Given the description of an element on the screen output the (x, y) to click on. 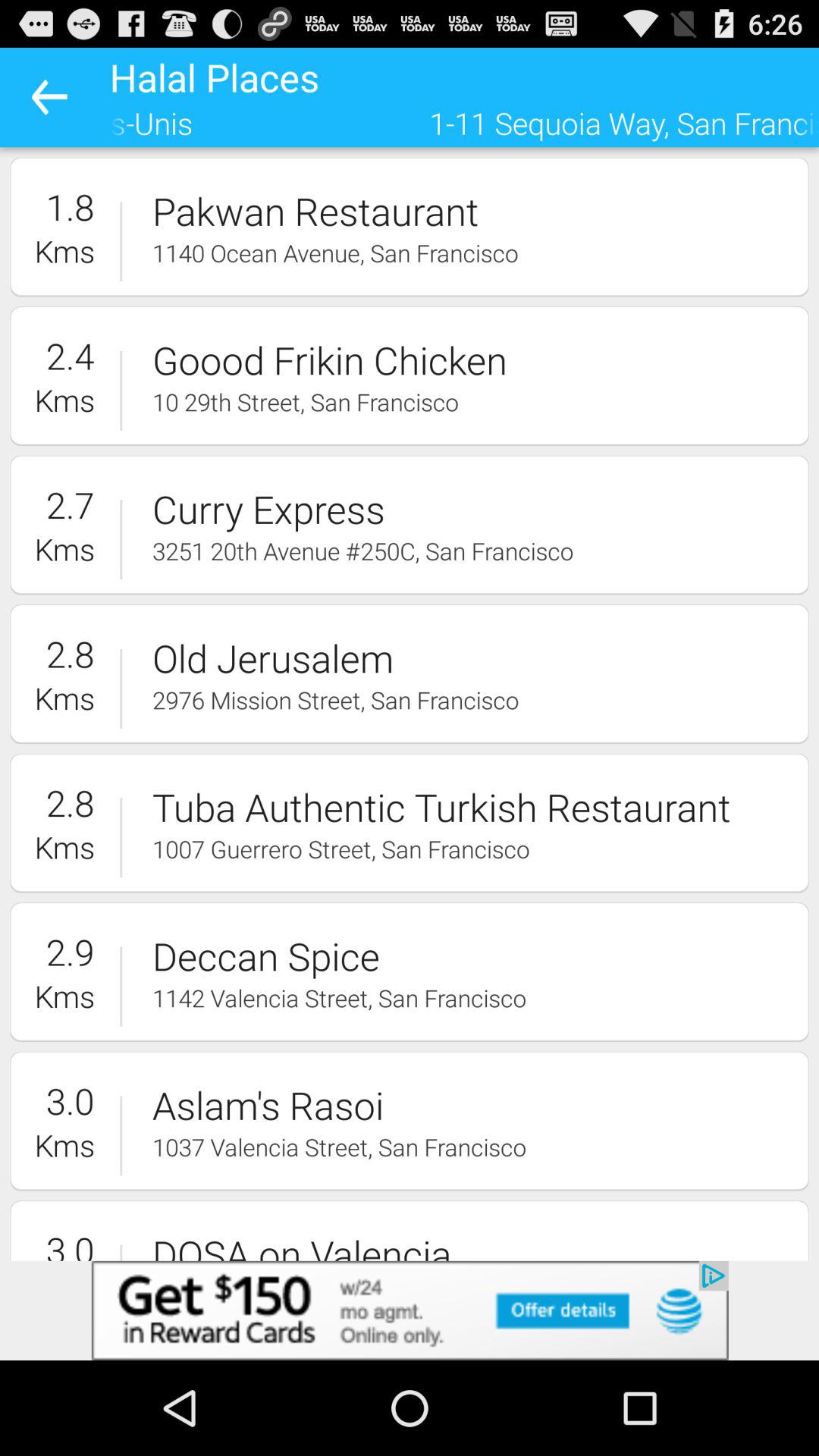
open advertisement (409, 1310)
